Given the description of an element on the screen output the (x, y) to click on. 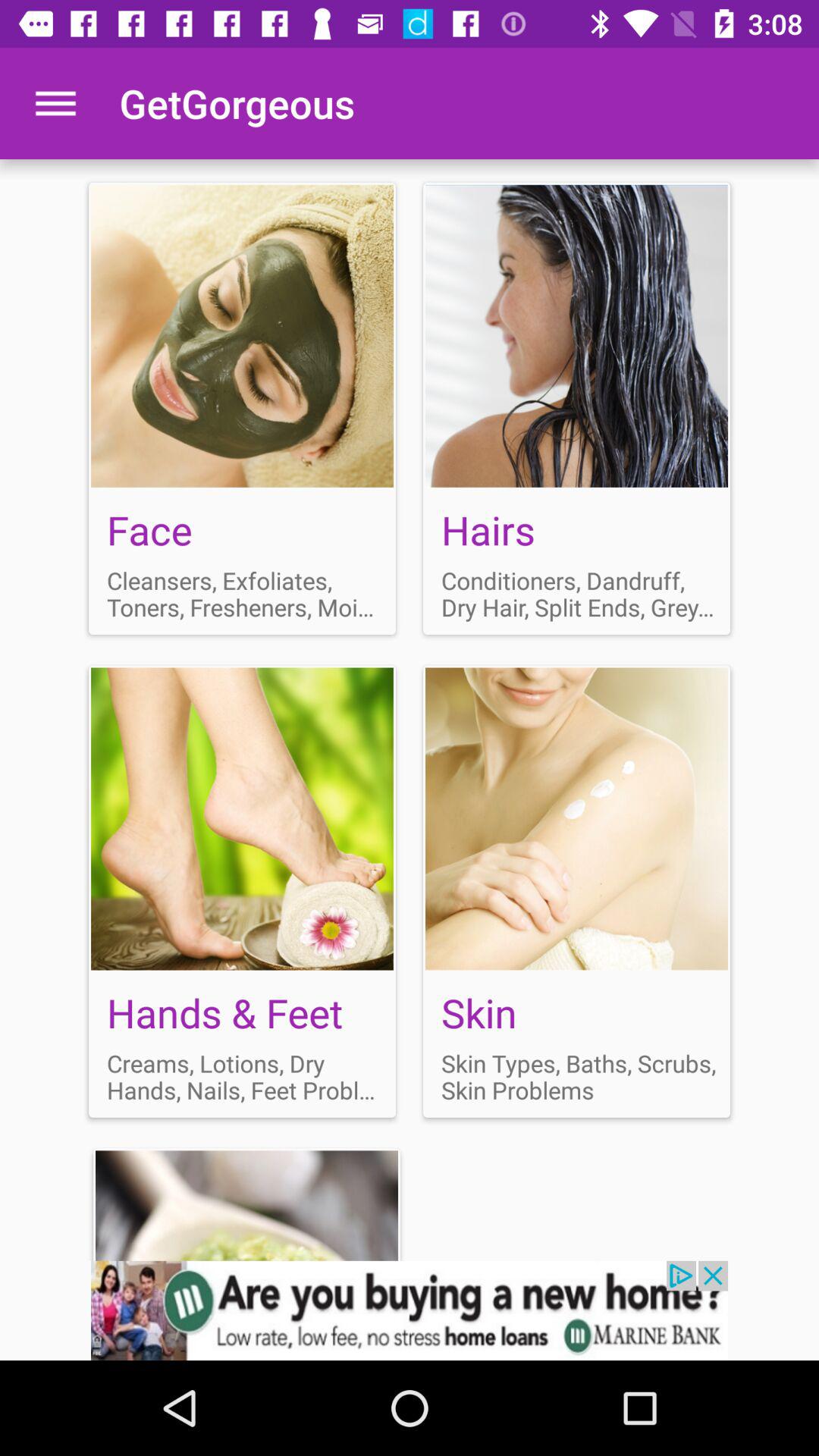
open hands feet (242, 891)
